Given the description of an element on the screen output the (x, y) to click on. 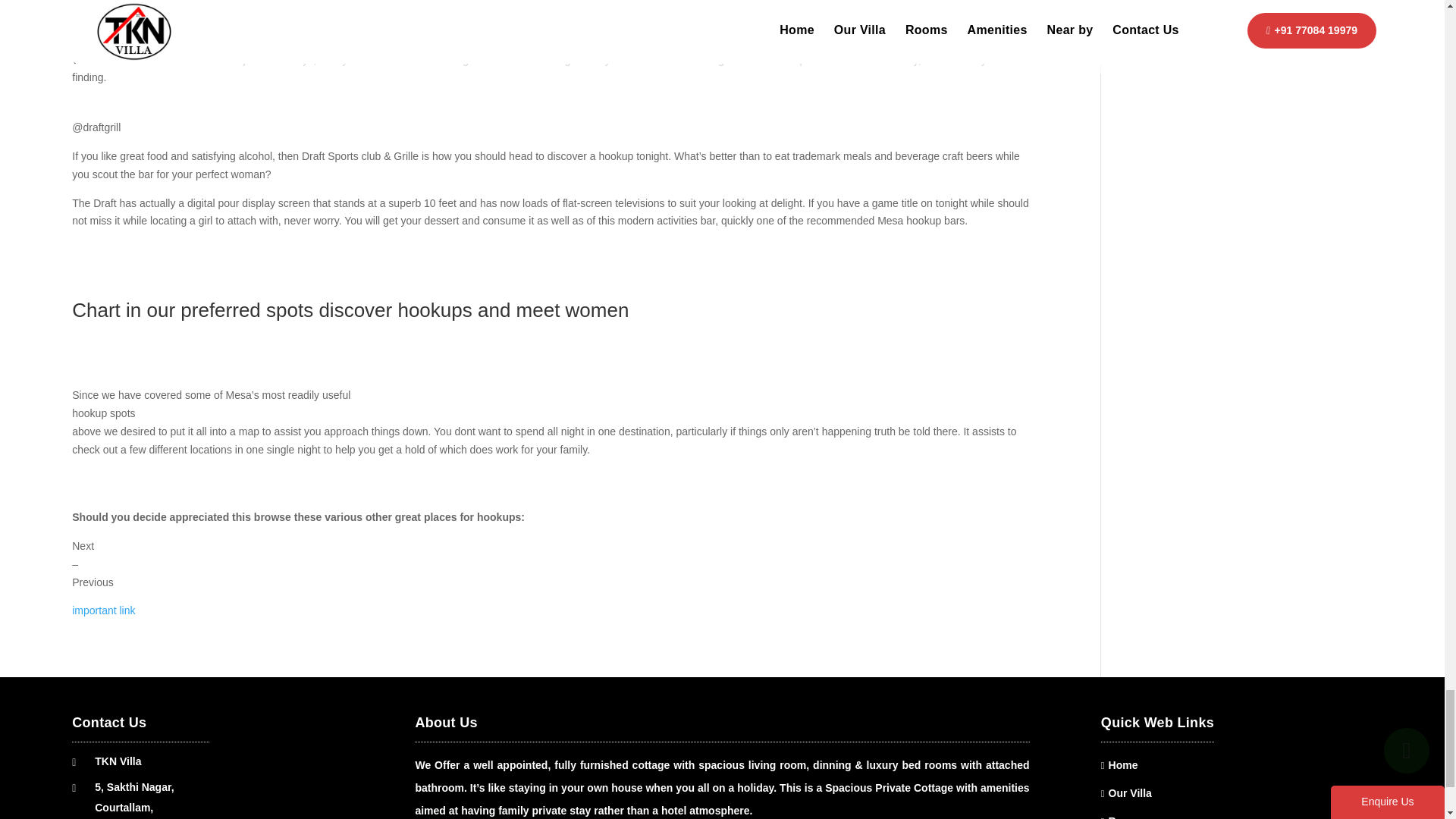
Our Villa (1129, 793)
Home (1123, 765)
important link (103, 610)
Rooms (1126, 816)
